Given the description of an element on the screen output the (x, y) to click on. 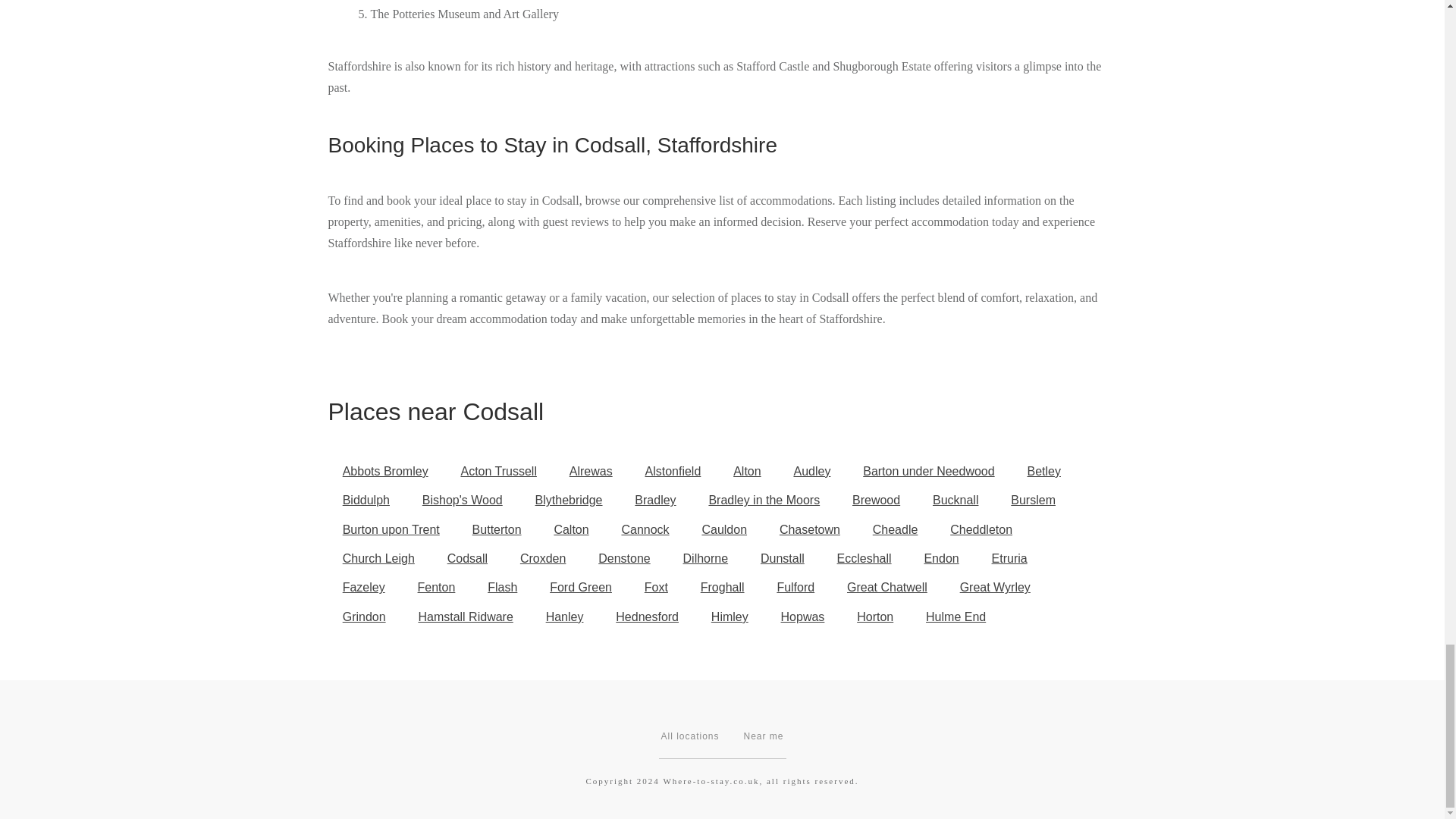
Bradley (655, 500)
Bishop's Wood (461, 500)
Acton Trussell (498, 471)
Butterton (496, 529)
Burslem (1032, 500)
Betley (1043, 471)
Blythebridge (567, 500)
Audley (811, 471)
Alstonfield (672, 471)
Brewood (876, 500)
Abbots Bromley (384, 471)
Barton under Needwood (928, 471)
Calton (571, 529)
Alton (747, 471)
Alrewas (590, 471)
